Given the description of an element on the screen output the (x, y) to click on. 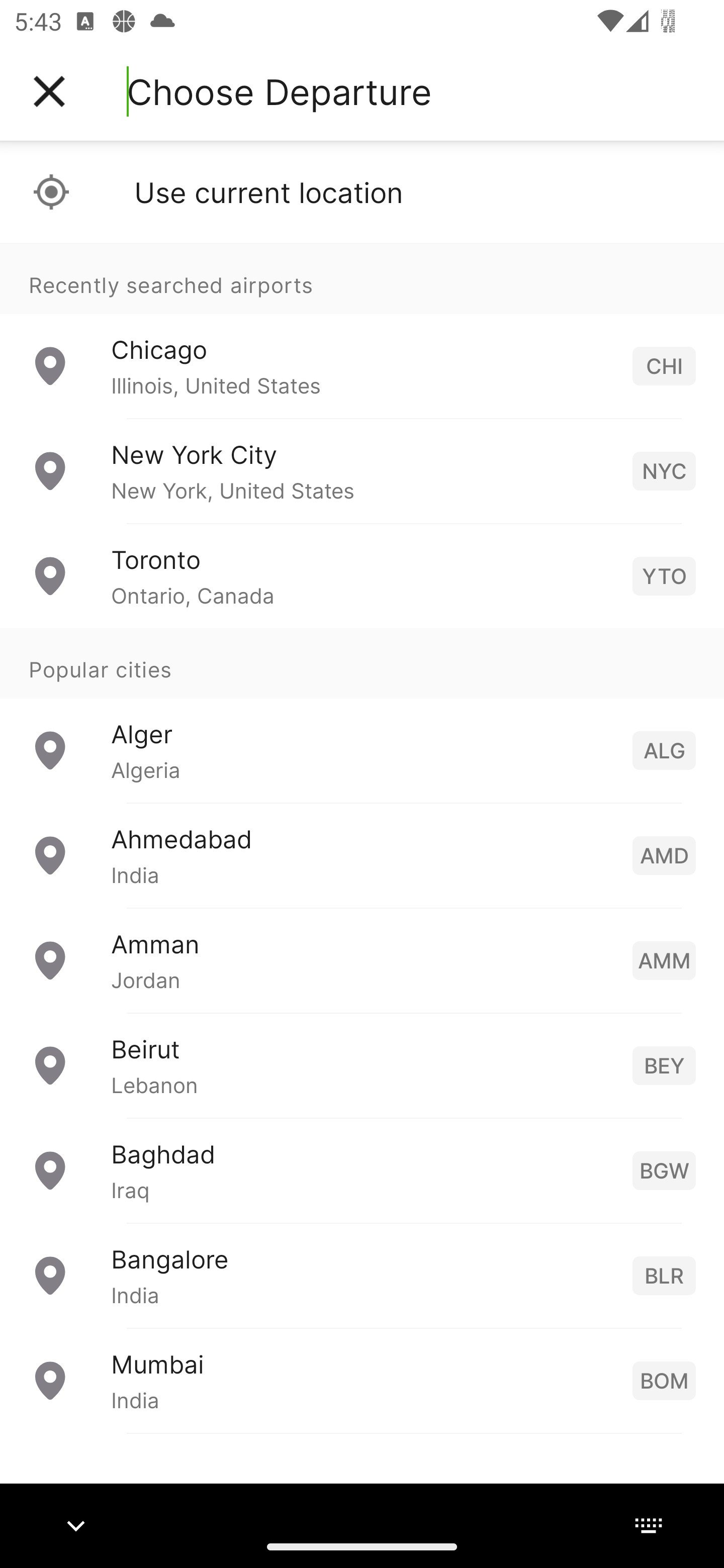
Choose Departure (279, 91)
Use current location (362, 192)
Recently searched airports (362, 278)
New York City New York, United States NYC (362, 470)
Toronto Ontario, Canada YTO (362, 575)
Popular cities Alger Algeria ALG (362, 715)
Popular cities (362, 663)
Ahmedabad India AMD (362, 854)
Amman Jordan AMM (362, 959)
Beirut Lebanon BEY (362, 1064)
Baghdad Iraq BGW (362, 1170)
Bangalore India BLR (362, 1275)
Mumbai India BOM (362, 1380)
